Given the description of an element on the screen output the (x, y) to click on. 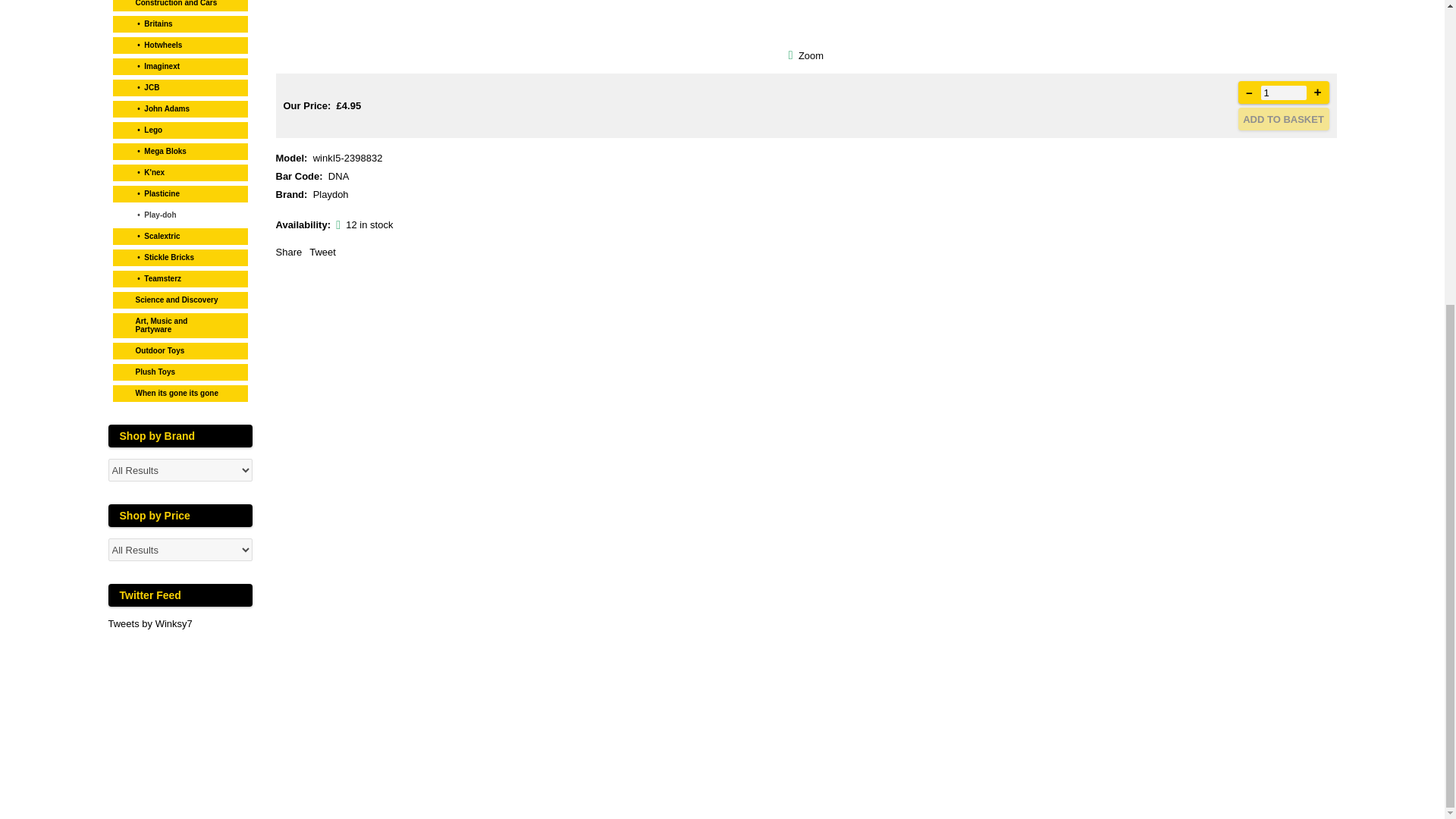
ADD TO BASKET (1282, 118)
Science and Discovery (179, 297)
Outdoor Toys (179, 348)
Art, Music and Partyware (179, 323)
Plush Toys (179, 369)
1 (1283, 92)
Construction and Cars (179, 5)
Play-doh Doh-Vinci Dazzling Display Chandelier (810, 54)
Tweet (322, 251)
Zoom (806, 22)
